Given the description of an element on the screen output the (x, y) to click on. 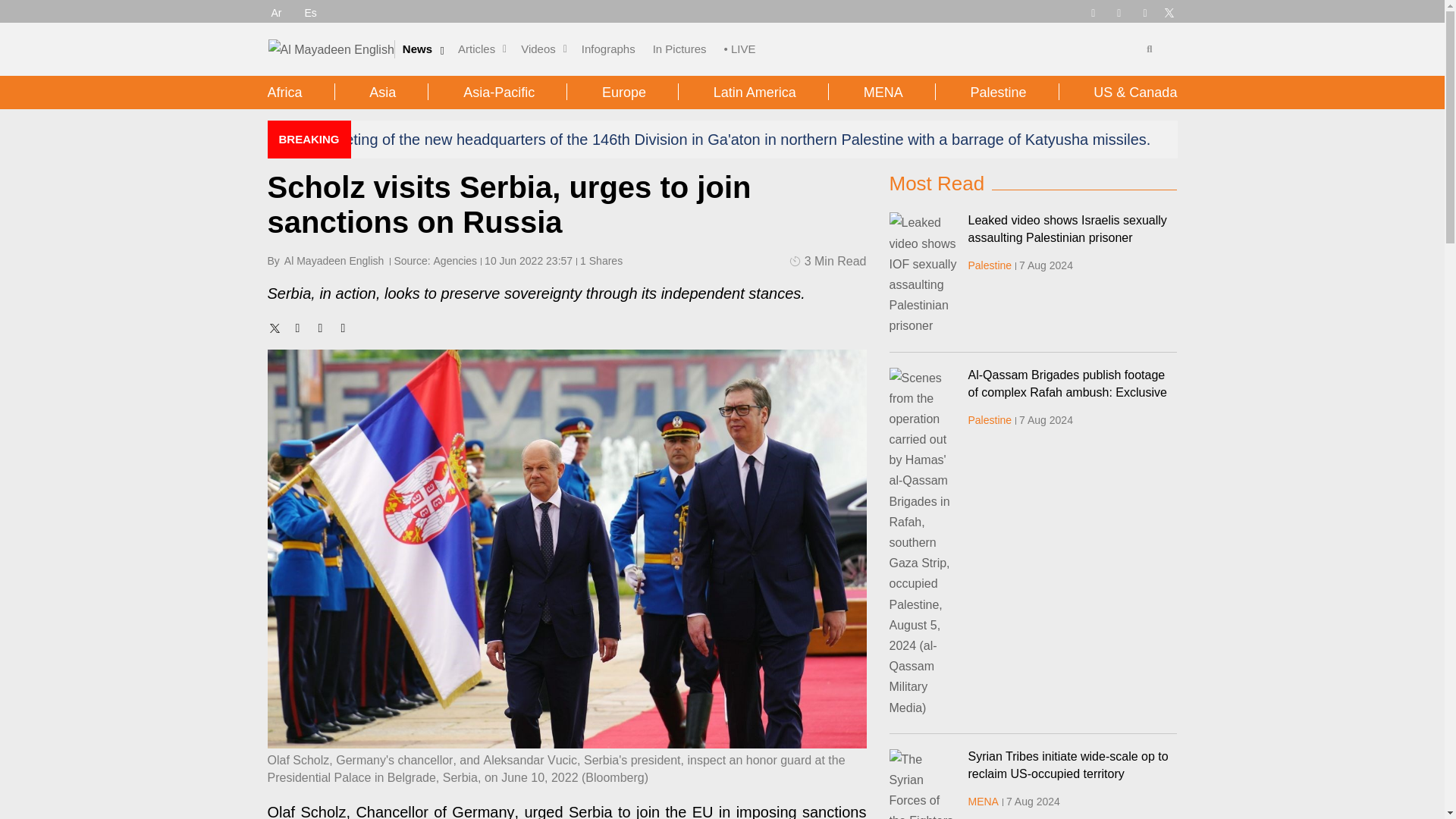
Es (310, 12)
MENA (982, 801)
Videos (538, 48)
Instagram (1144, 11)
Facebook (1118, 11)
News (417, 48)
Palestine (989, 419)
Telegram (1092, 11)
Infographs (607, 48)
Palestine (989, 265)
